Given the description of an element on the screen output the (x, y) to click on. 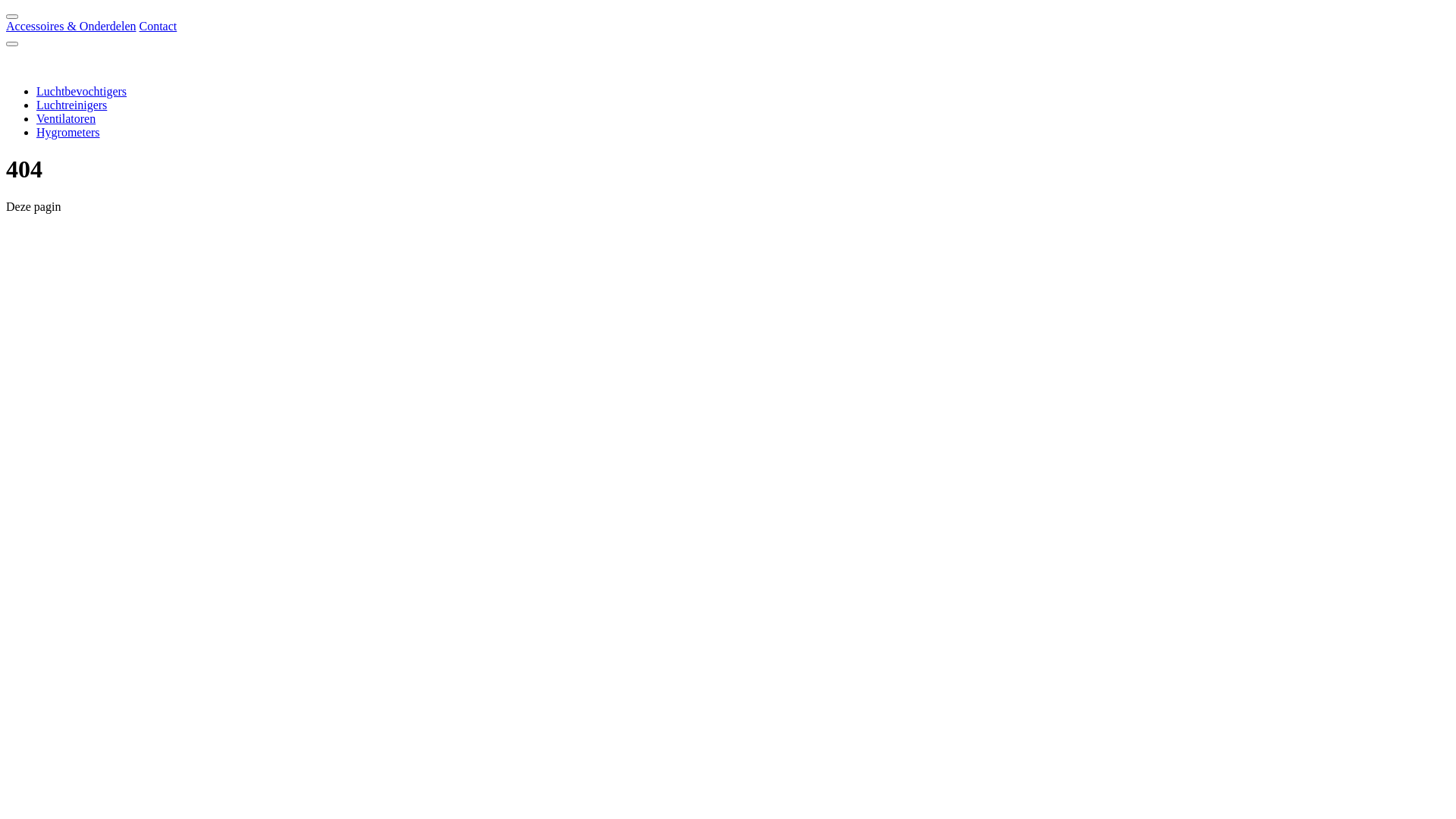
Hygrometers Element type: text (68, 131)
Luchtbevochtigers Element type: text (81, 90)
Luchtreinigers Element type: text (71, 104)
Contact Element type: text (158, 25)
Accessoires & Onderdelen Element type: text (71, 25)
Ventilatoren Element type: text (65, 118)
